Given the description of an element on the screen output the (x, y) to click on. 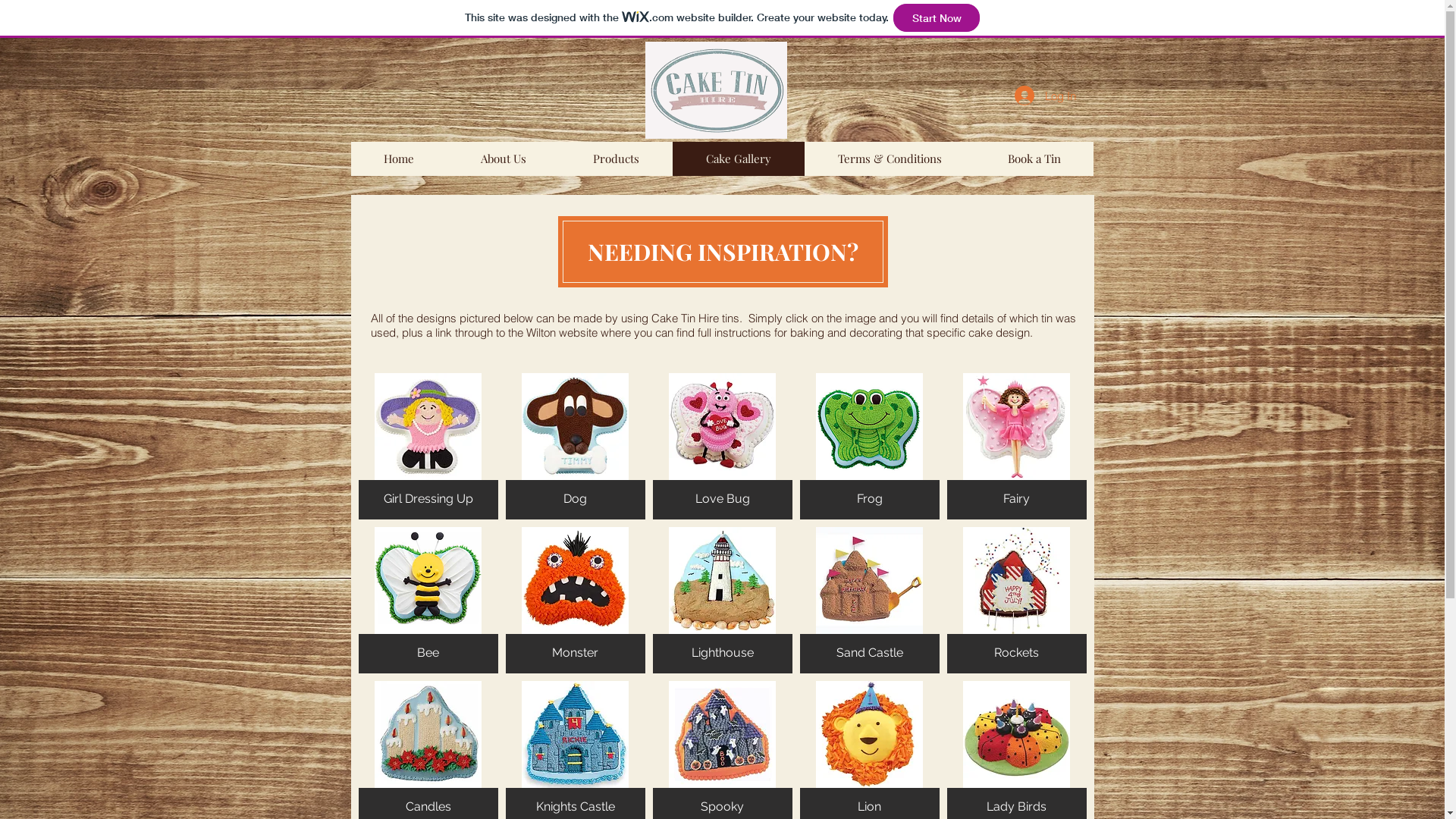
Book a Tin Element type: text (1032, 158)
Products Element type: text (615, 158)
About Us Element type: text (503, 158)
Log In Element type: text (1045, 95)
Home Element type: text (398, 158)
Cake Gallery Element type: text (737, 158)
Terms & Conditions Element type: text (888, 158)
